Given the description of an element on the screen output the (x, y) to click on. 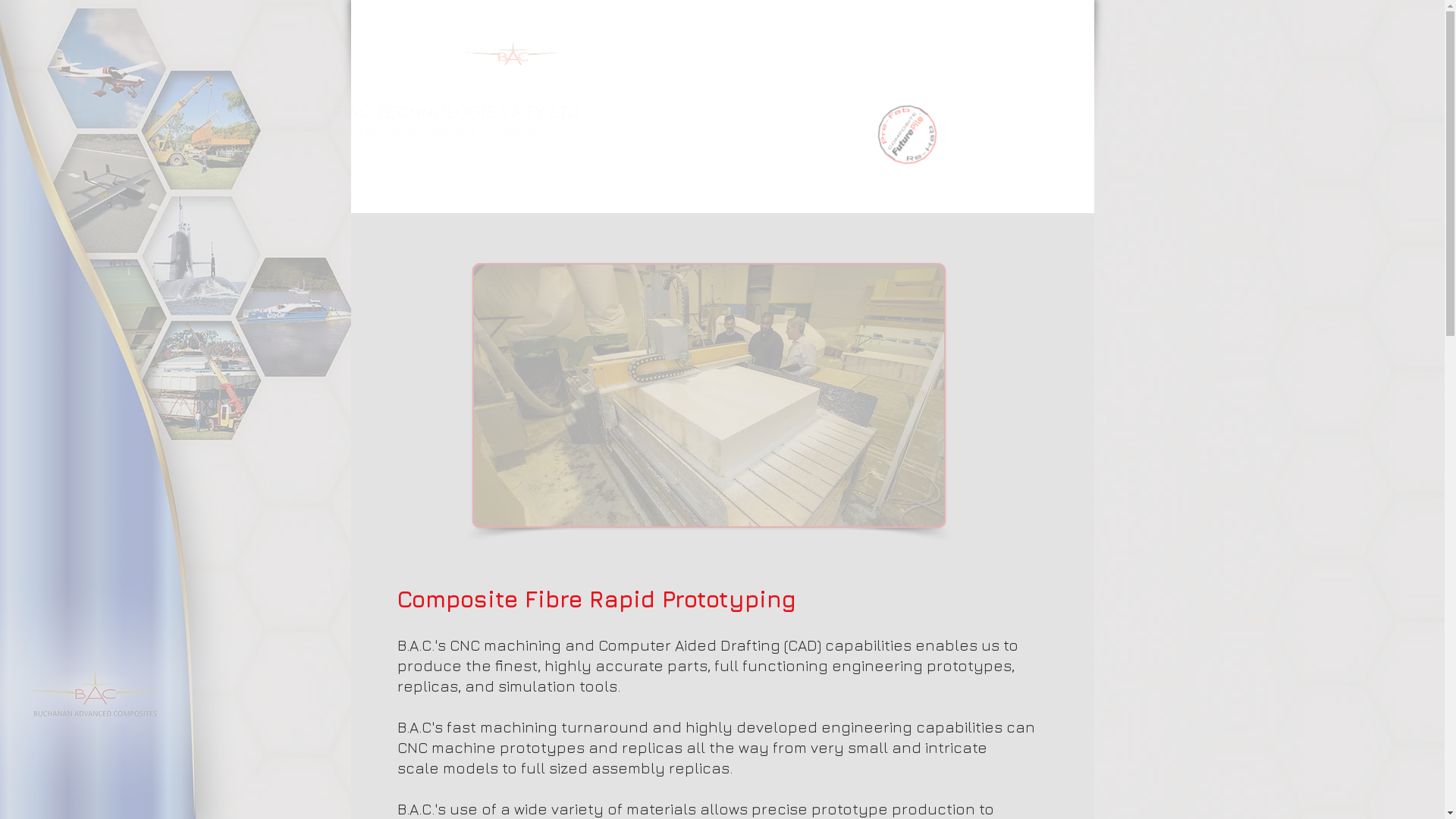
BACLogoRedTxt.png Element type: hover (619, 85)
FuturePileBrandMarkAsSubmittedToIPAustra Element type: hover (915, 138)
